Given the description of an element on the screen output the (x, y) to click on. 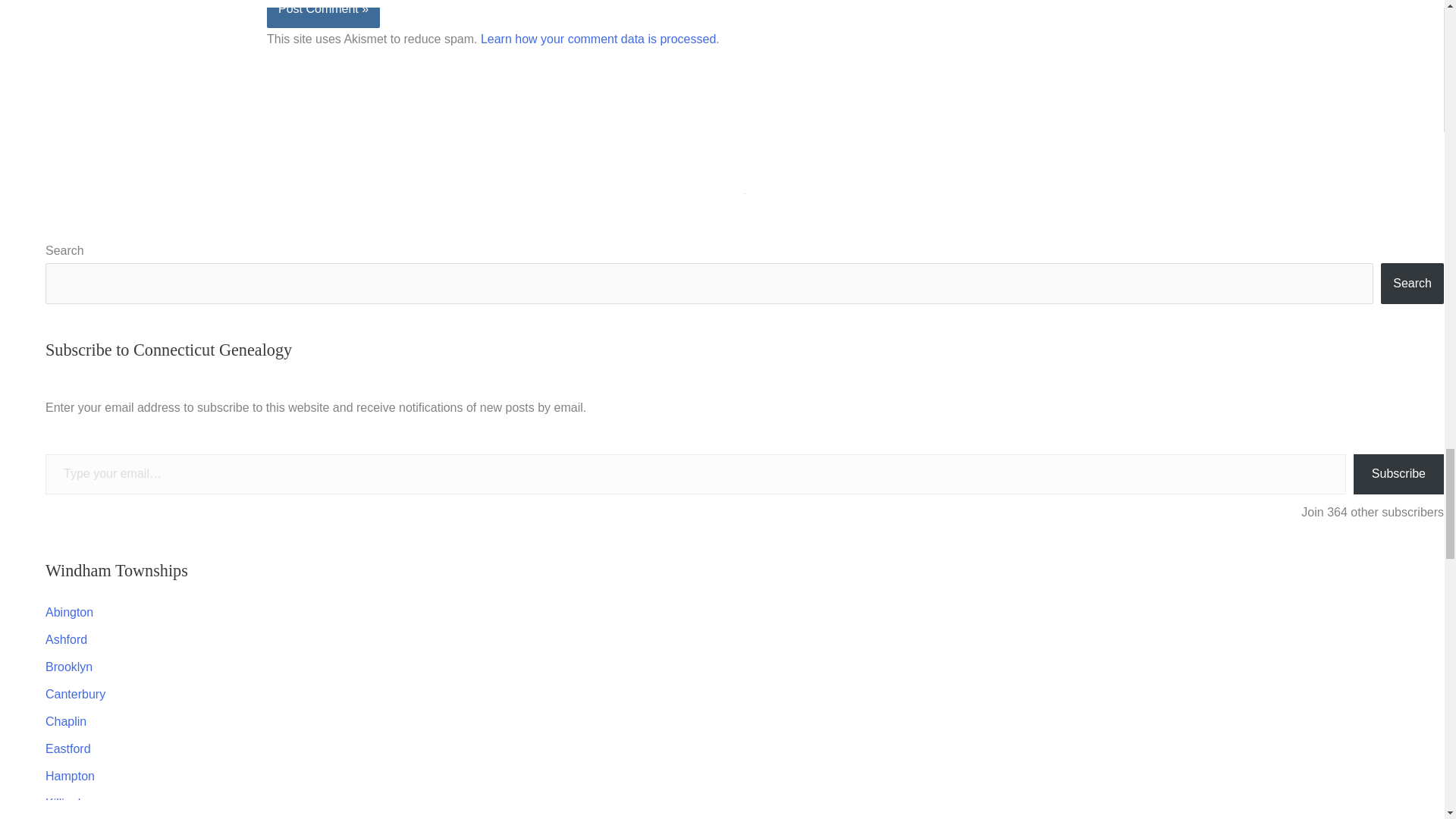
Please fill in this field. (695, 474)
Search (1412, 282)
Killingly (65, 802)
Abington (69, 612)
Subscribe (1399, 474)
Canterbury (74, 694)
Chaplin (65, 721)
Learn how your comment data is processed (598, 38)
Hampton (69, 775)
Eastford (67, 748)
Ashford (66, 639)
Brooklyn (69, 666)
